Given the description of an element on the screen output the (x, y) to click on. 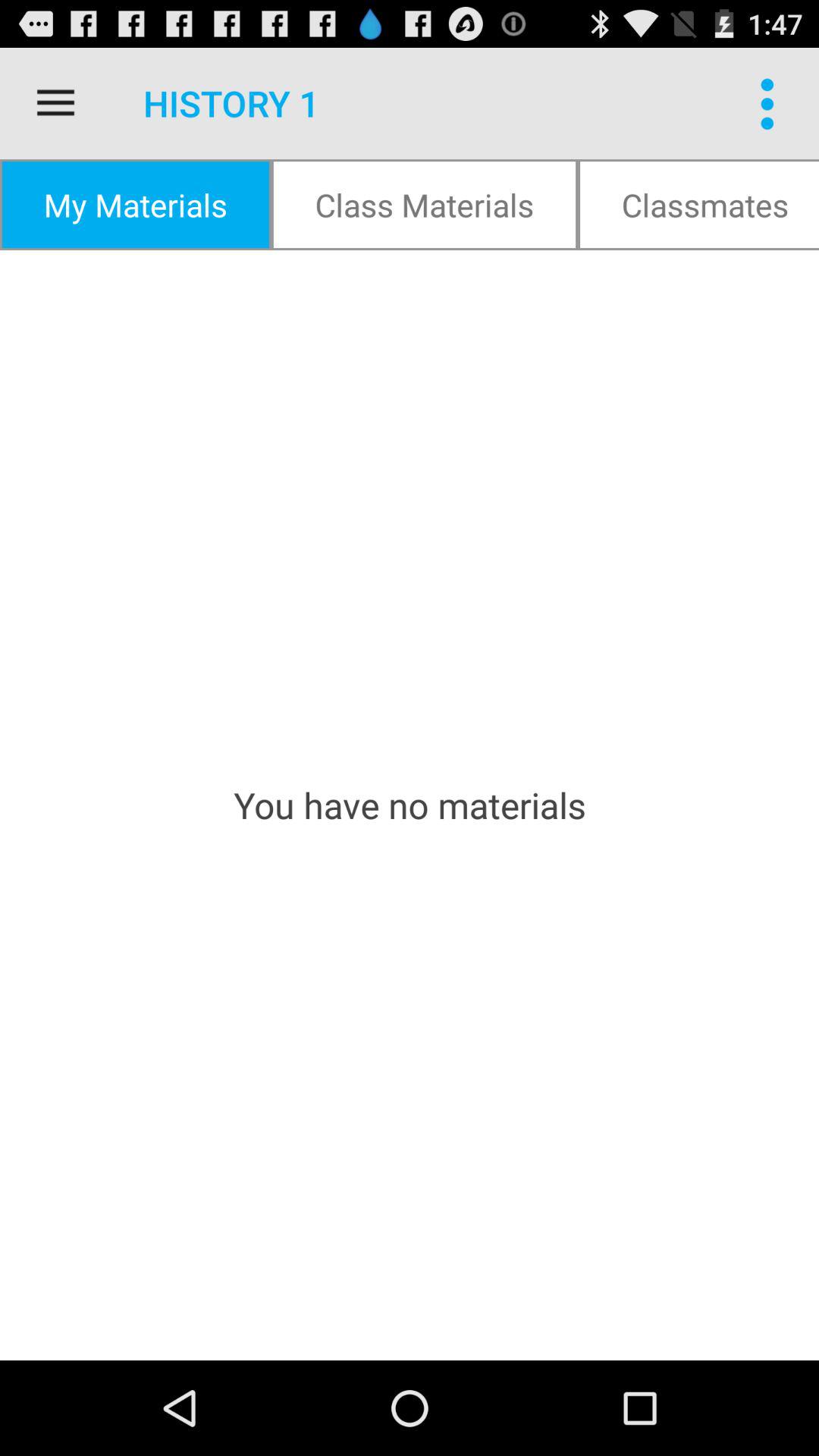
jump to my materials item (135, 204)
